Given the description of an element on the screen output the (x, y) to click on. 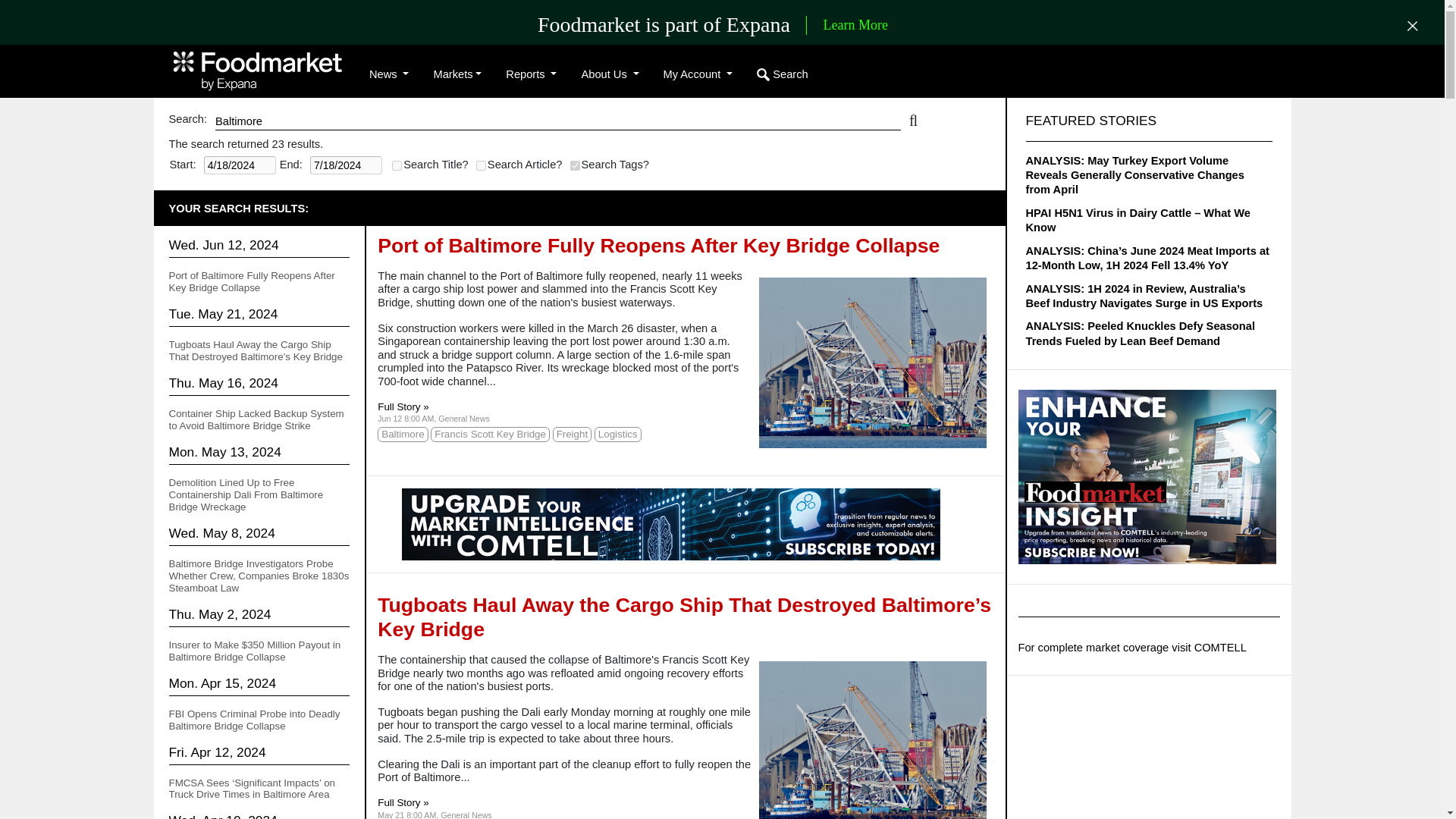
Learn More (856, 25)
Markets (456, 74)
Port of Baltimore Fully Reopens After Key Bridge Collapse (251, 281)
Reports (531, 74)
My Account (697, 74)
on (481, 165)
on (574, 165)
About Us (609, 74)
News (388, 74)
on (396, 165)
